Given the description of an element on the screen output the (x, y) to click on. 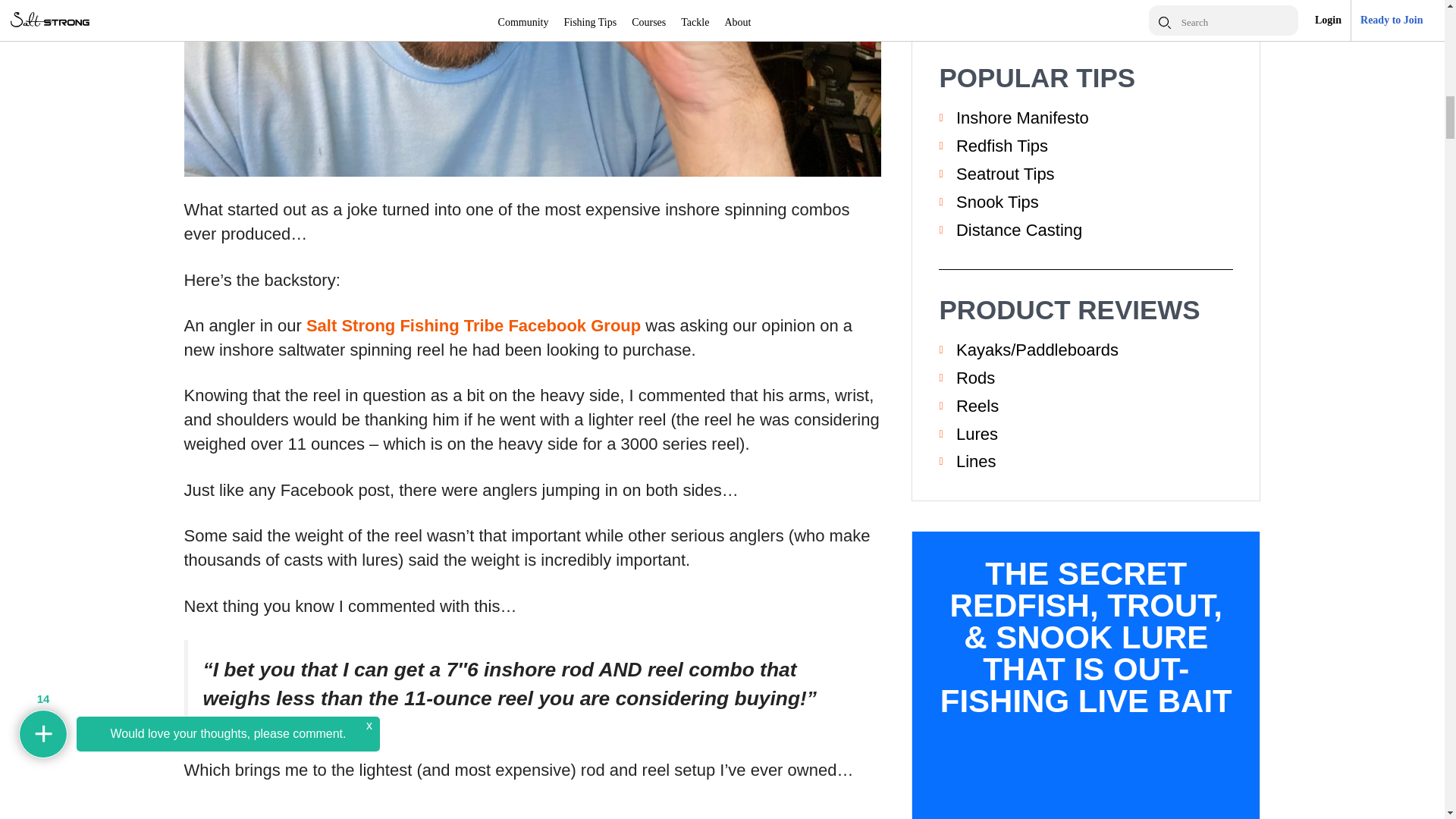
Salt Strong Fishing Tribe Facebook Group (472, 325)
